Given the description of an element on the screen output the (x, y) to click on. 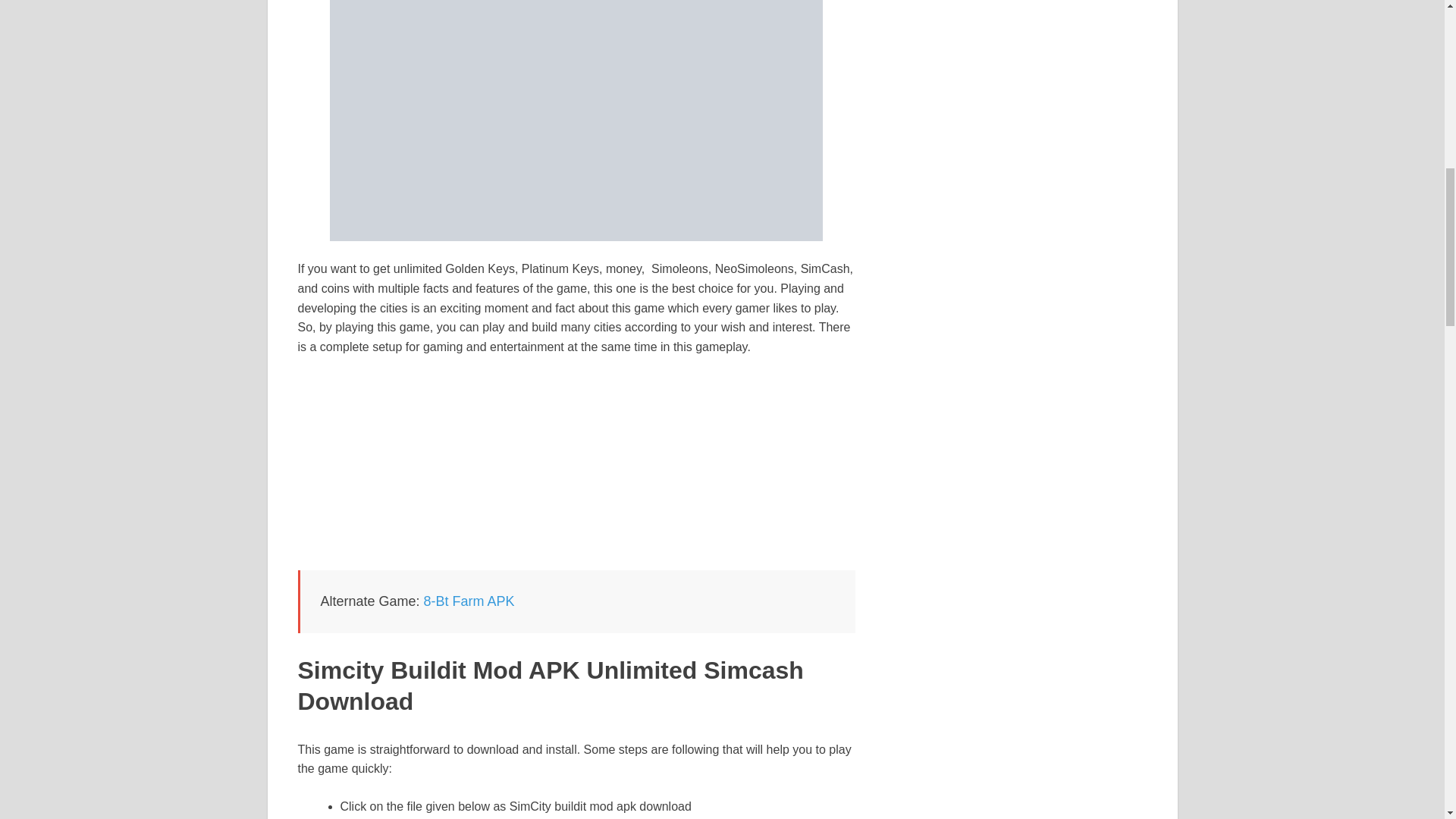
8-Bt Farm APK (469, 601)
